Given the description of an element on the screen output the (x, y) to click on. 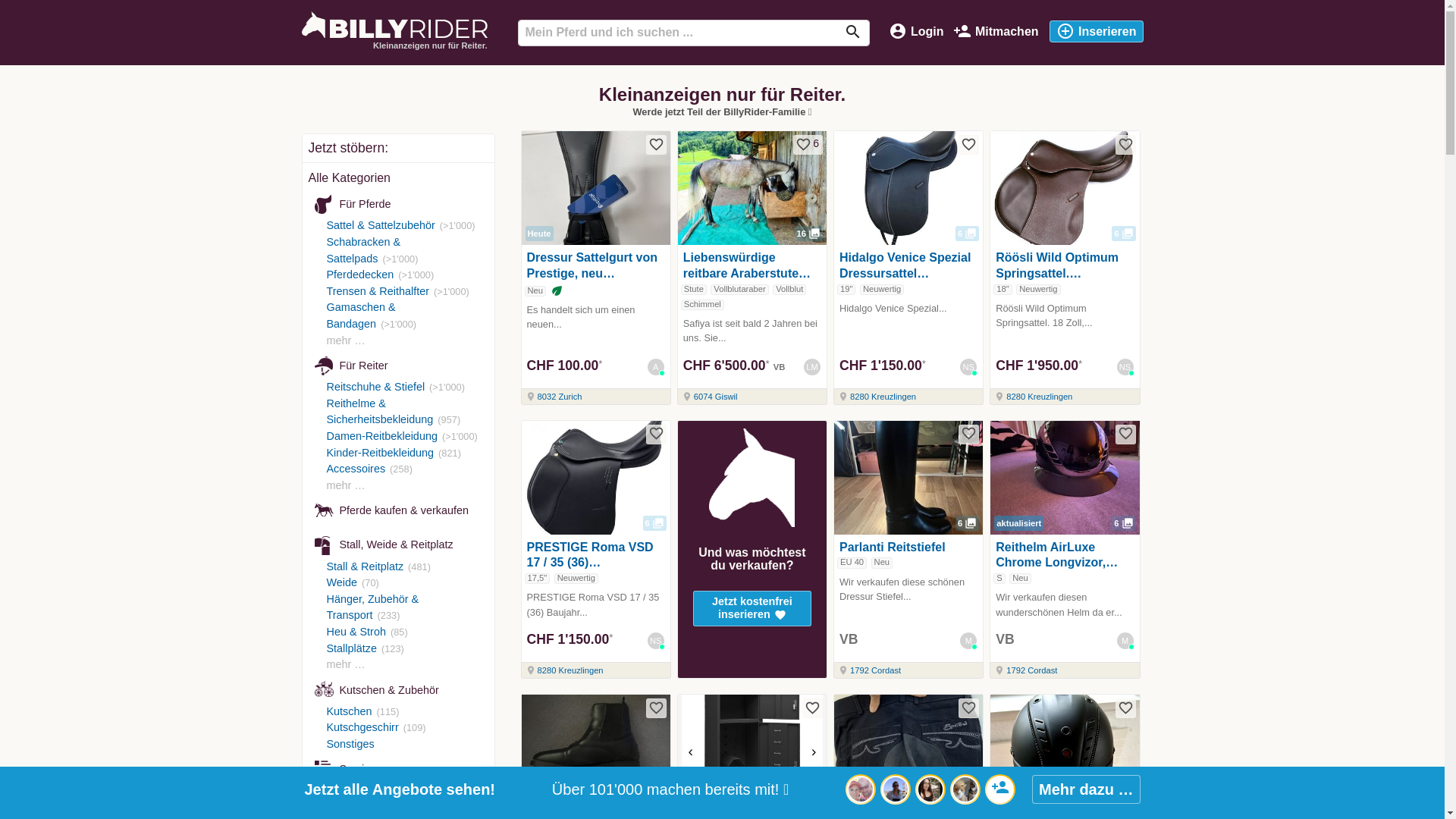
favorite_border Element type: text (656, 143)
account_circleLogin Element type: text (916, 32)
add_circle_outlineInserieren Element type: text (1095, 31)
Reitschuhe & Stiefel Element type: text (375, 386)
Alle Kategorien Element type: text (348, 177)
Accessoires Element type: text (355, 468)
favorite_border6 Element type: text (807, 143)
favorite_border Element type: text (968, 143)
BillyRider.ch Element type: hover (394, 24)
Reitstiefeletten Stiefeletten Element type: hover (595, 751)
Weide Element type: text (341, 582)
favorite_border Element type: text (968, 707)
favorite_border Element type: text (968, 433)
Kutschgeschirr Element type: text (362, 727)
Heu & Stroh Element type: text (355, 631)
Gamaschen & Bandagen Element type: text (360, 315)
Stall & Reitplatz Element type: text (364, 566)
Kutschen Element type: text (348, 711)
favorite_border Element type: text (812, 707)
Services Element type: text (400, 768)
Stall, Weide & Reitplatz Element type: text (400, 544)
favorite_border Element type: text (656, 433)
favorite_border Element type: text (1125, 143)
favorite_border Element type: text (1125, 433)
person_addMitmachen Element type: text (995, 32)
Reitstiefel Parlanti, Parlanti Reitstiefel Element type: hover (908, 477)
Schabracken & Sattelpads Element type: text (363, 249)
favorite_border Element type: text (656, 707)
Pferde kaufen & verkaufen Element type: text (400, 510)
Reitunterricht Element type: text (358, 790)
Reithelme & Sicherheitsbekleidung Element type: text (379, 411)
Damen-Reitbekleidung Element type: text (381, 435)
Kinder-Reitbekleidung Element type: text (379, 452)
Parlanti Reitstiefel Element type: text (892, 546)
Reitbeteiligungen Element type: text (368, 806)
search Element type: text (853, 31)
favorite_border Element type: text (1125, 707)
Trensen & Reithalfter Element type: text (377, 291)
Pferdedecken Element type: text (359, 274)
Sonstiges Element type: text (349, 743)
